Given the description of an element on the screen output the (x, y) to click on. 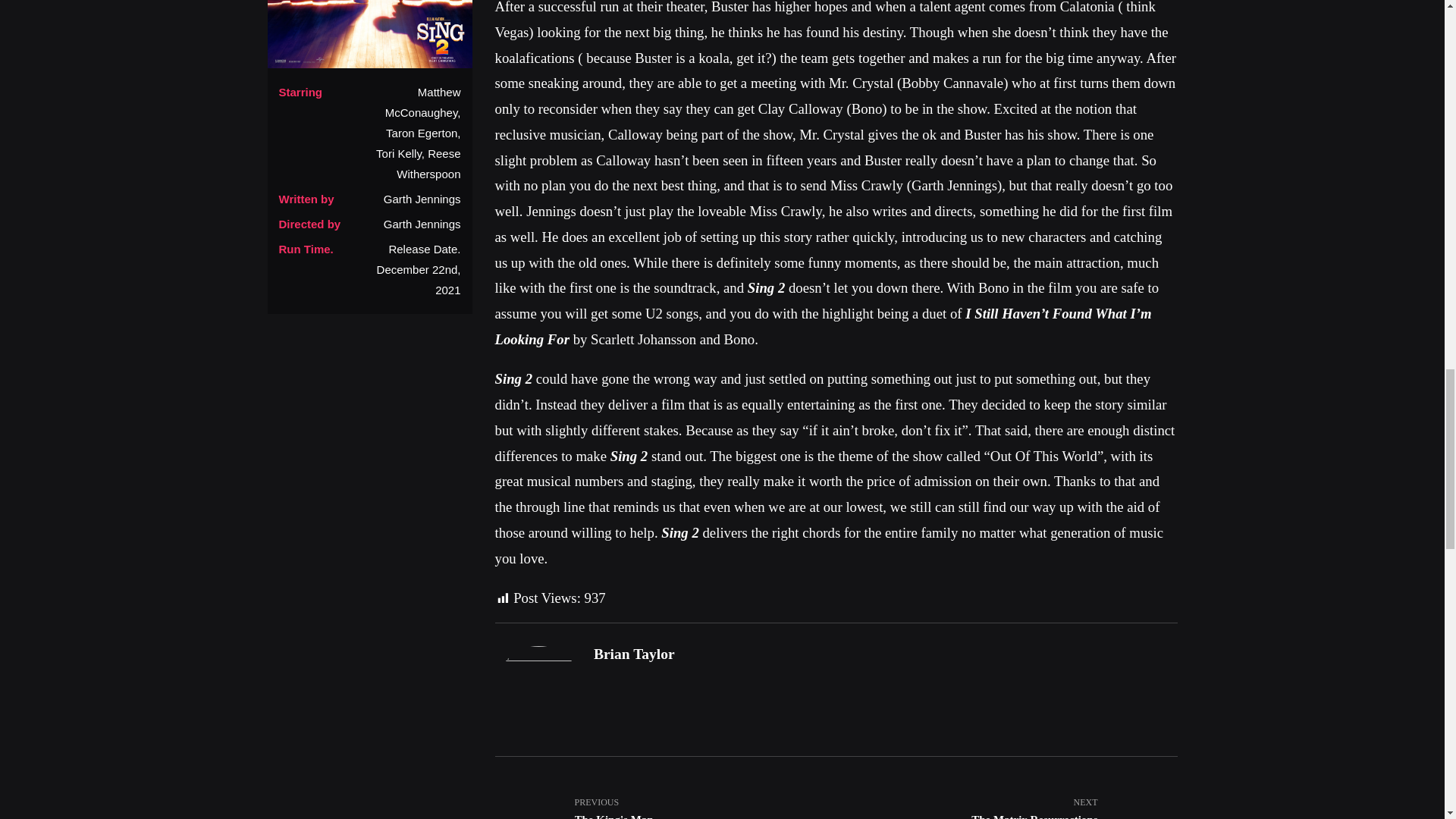
Brian Taylor (1005, 799)
Poster image (634, 653)
